Given the description of an element on the screen output the (x, y) to click on. 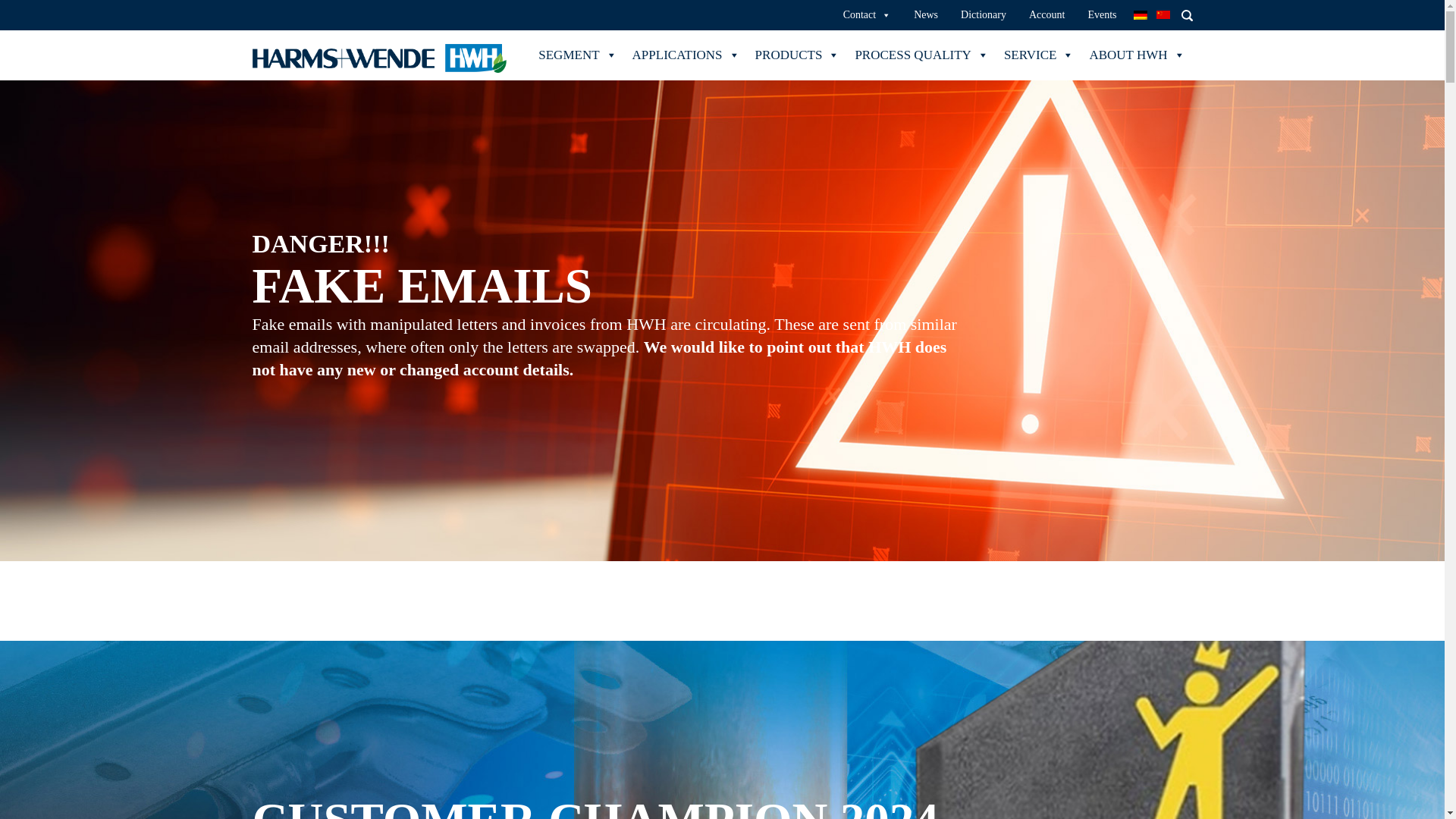
Contact (867, 15)
News (924, 15)
SEGMENT (577, 55)
Dictionary (983, 15)
Account (1046, 15)
Events (1102, 15)
APPLICATIONS (686, 55)
